Given the description of an element on the screen output the (x, y) to click on. 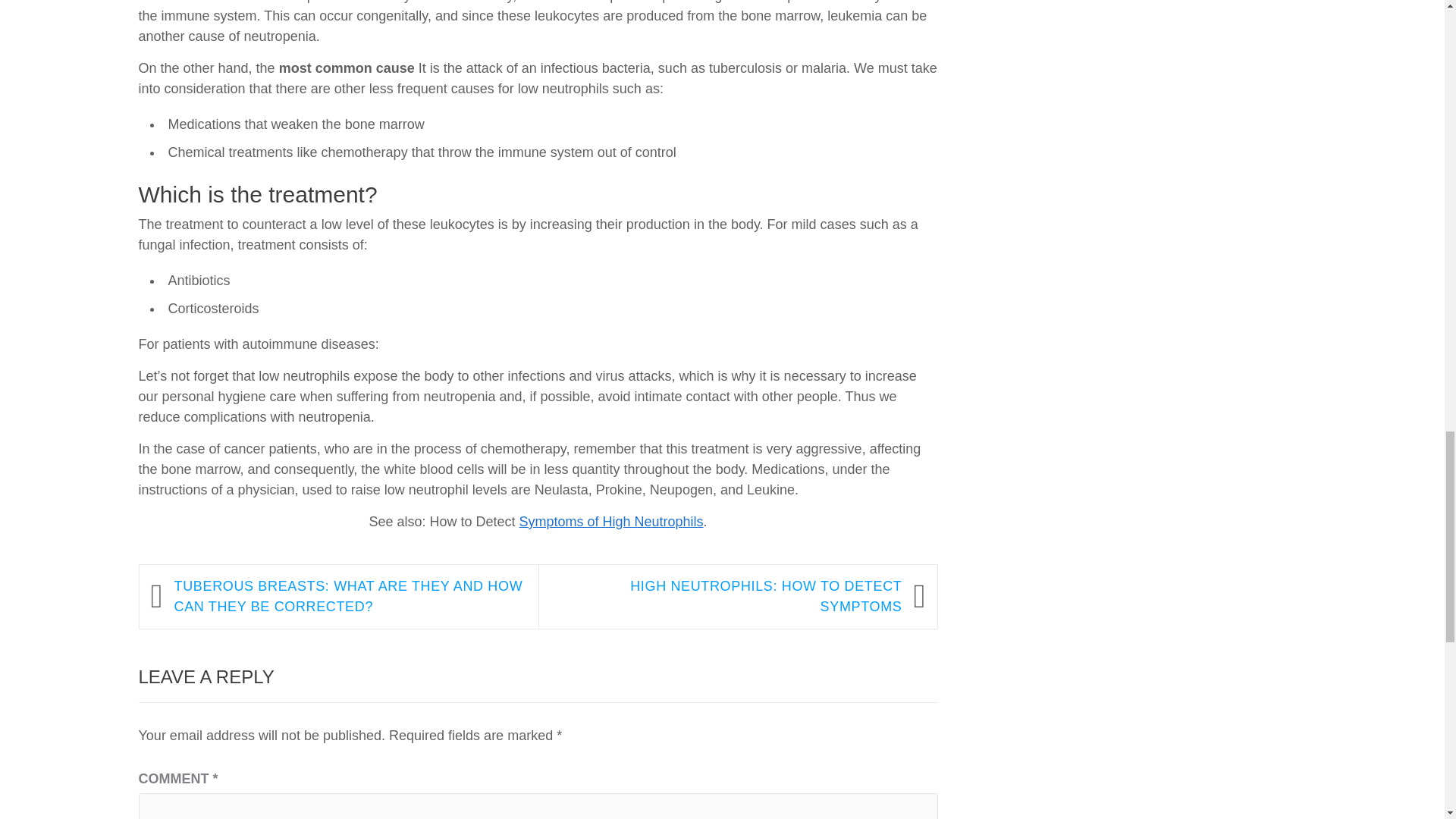
HIGH NEUTROPHILS: HOW TO DETECT SYMPTOMS (726, 596)
Symptoms of High Neutrophils (610, 521)
